Given the description of an element on the screen output the (x, y) to click on. 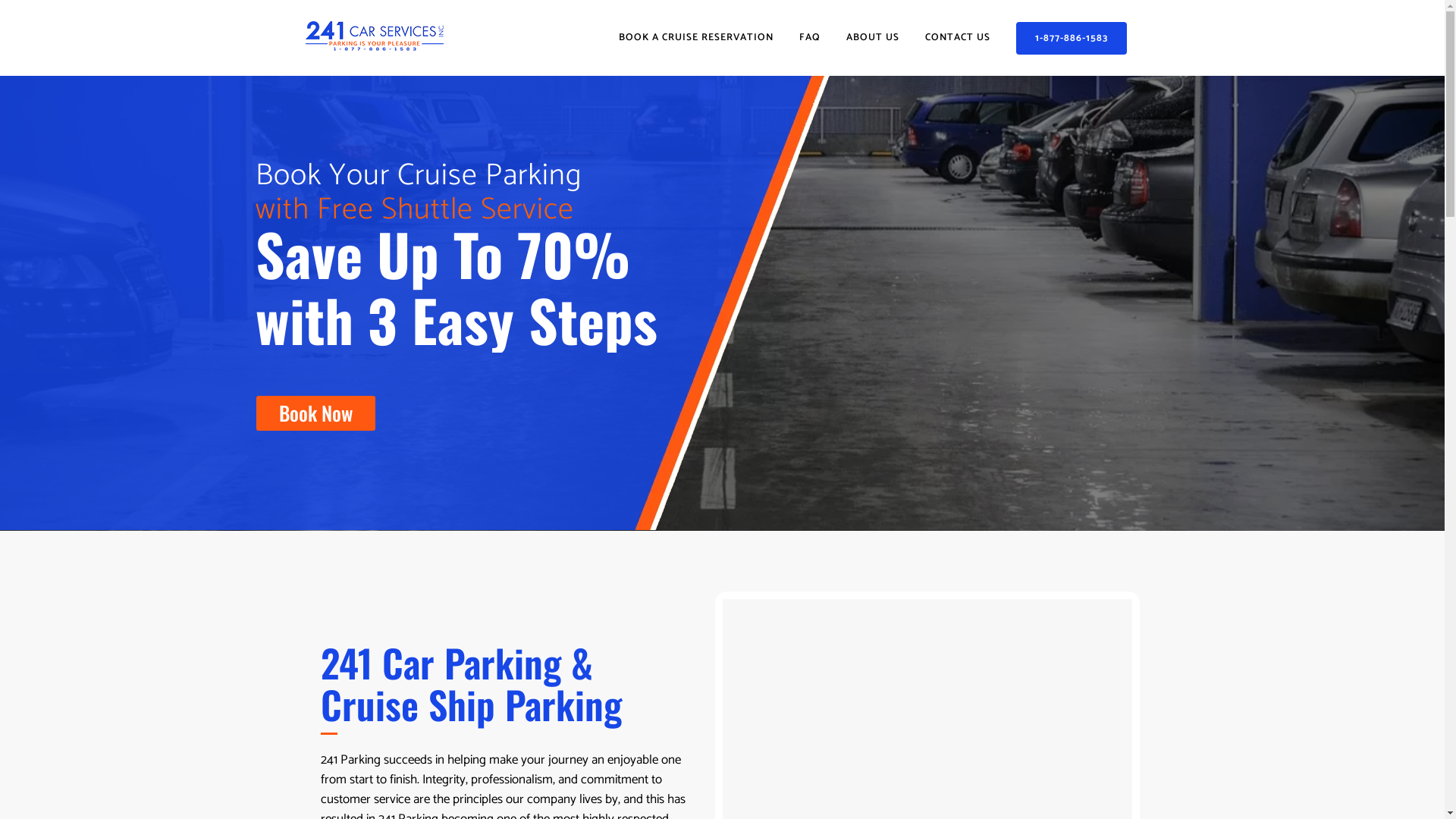
BOOK A CRUISE RESERVATION Element type: text (695, 37)
FAQ Element type: text (808, 37)
CONTACT US Element type: text (956, 37)
ABOUT US Element type: text (871, 37)
1-877-886-1583 Element type: text (1071, 37)
